Given the description of an element on the screen output the (x, y) to click on. 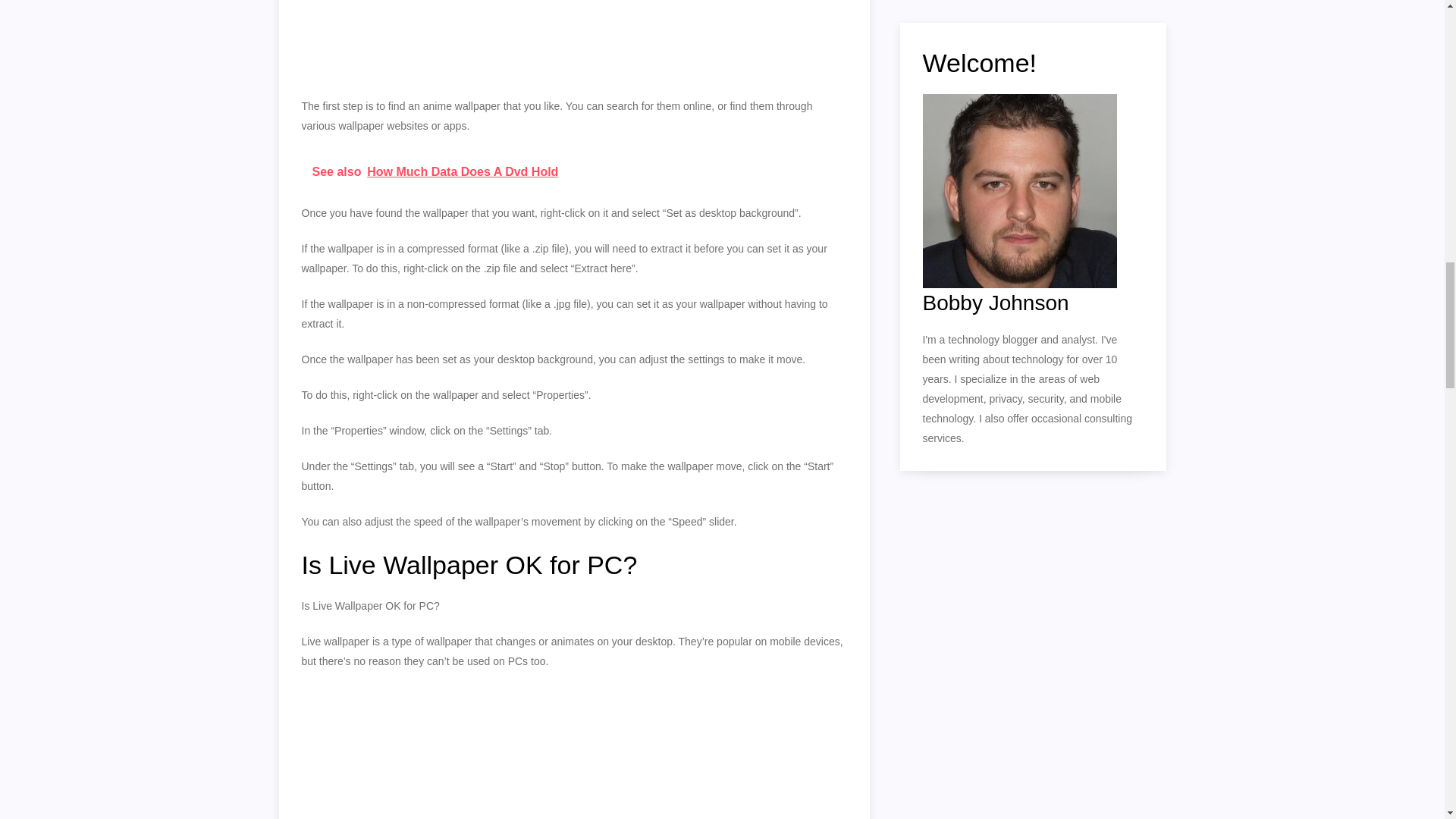
See also  How Much Data Does A Dvd Hold (574, 171)
